Given the description of an element on the screen output the (x, y) to click on. 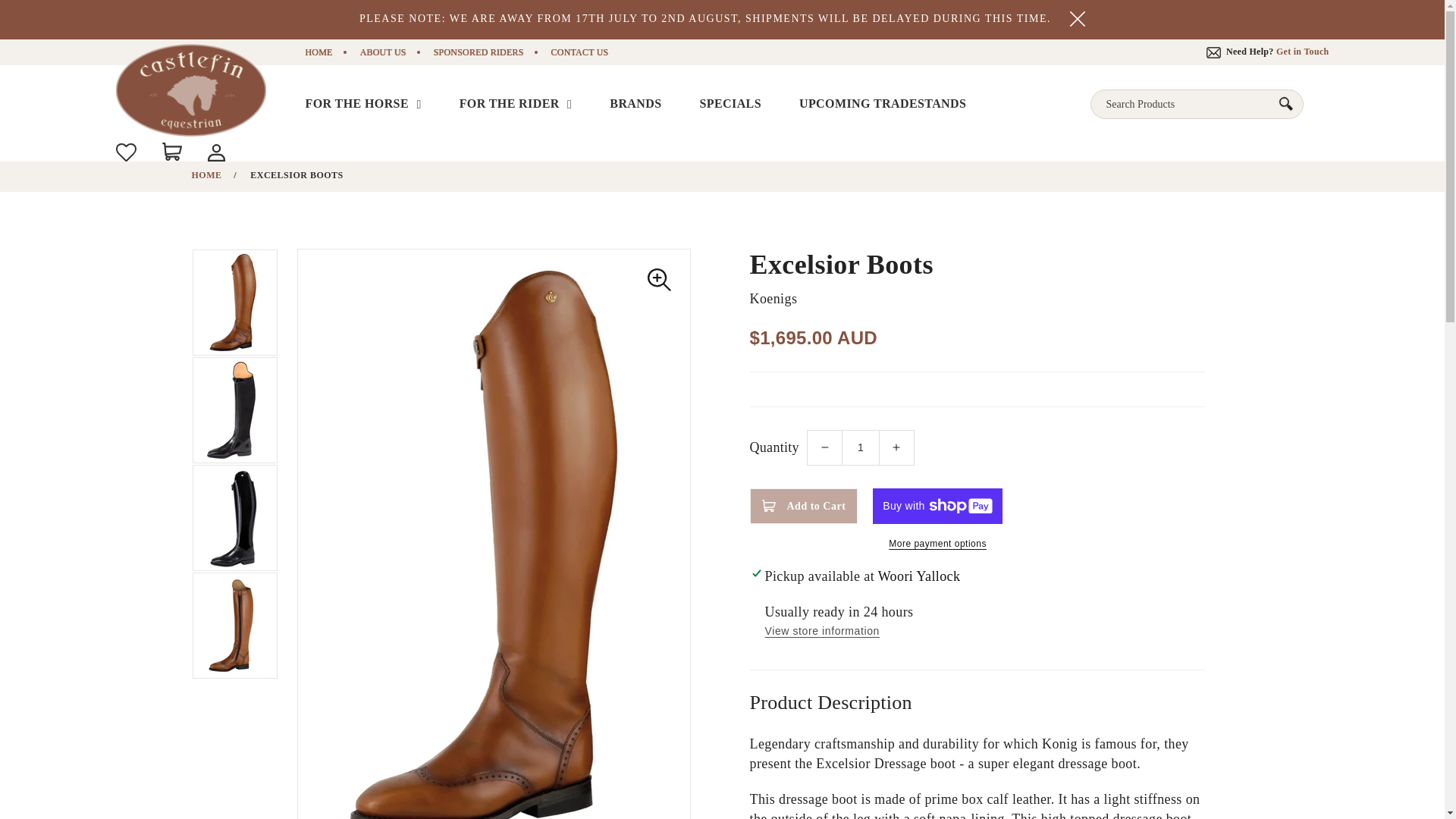
BRANDS (635, 103)
FOR THE RIDER (516, 103)
Need Help? Get in Touch (1268, 50)
ABOUT US (382, 51)
HOME (317, 51)
SPECIALS (730, 103)
SPONSORED RIDERS (478, 51)
1 (861, 447)
FOR THE HORSE (363, 103)
UPCOMING TRADESTANDS (882, 103)
CONTACT US (579, 51)
